Given the description of an element on the screen output the (x, y) to click on. 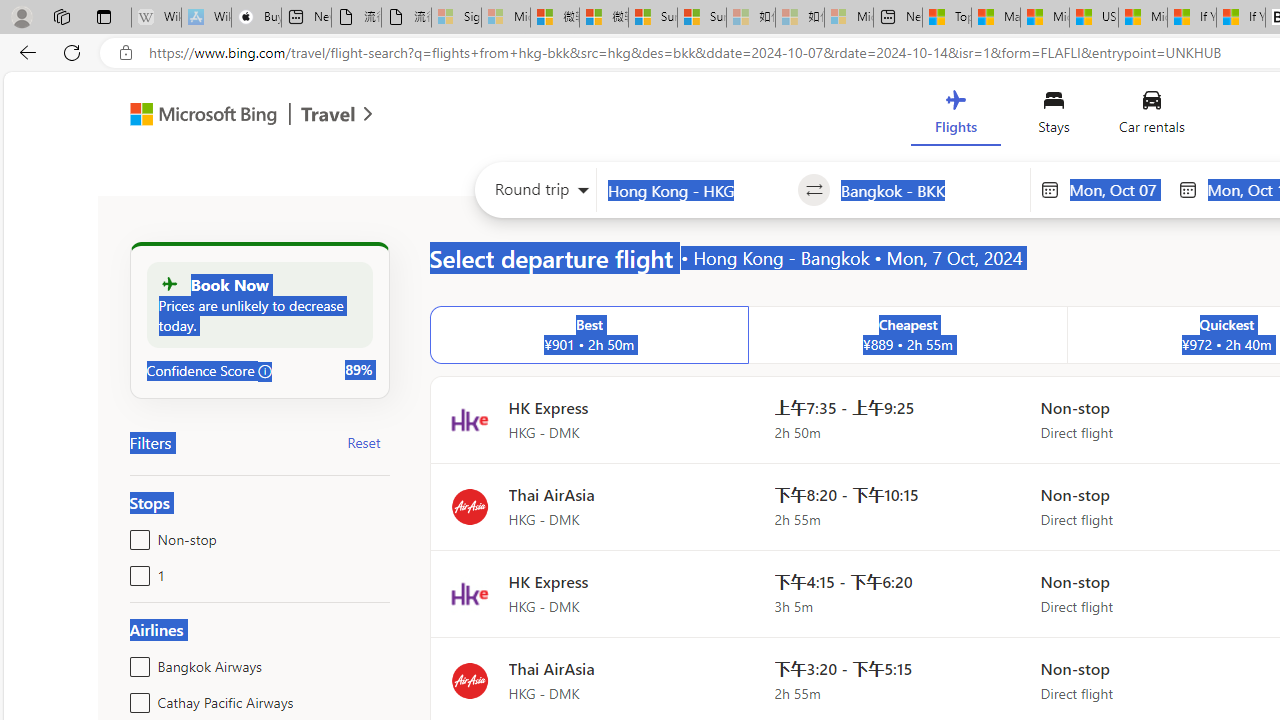
Marine life - MSN (995, 17)
